Given the description of an element on the screen output the (x, y) to click on. 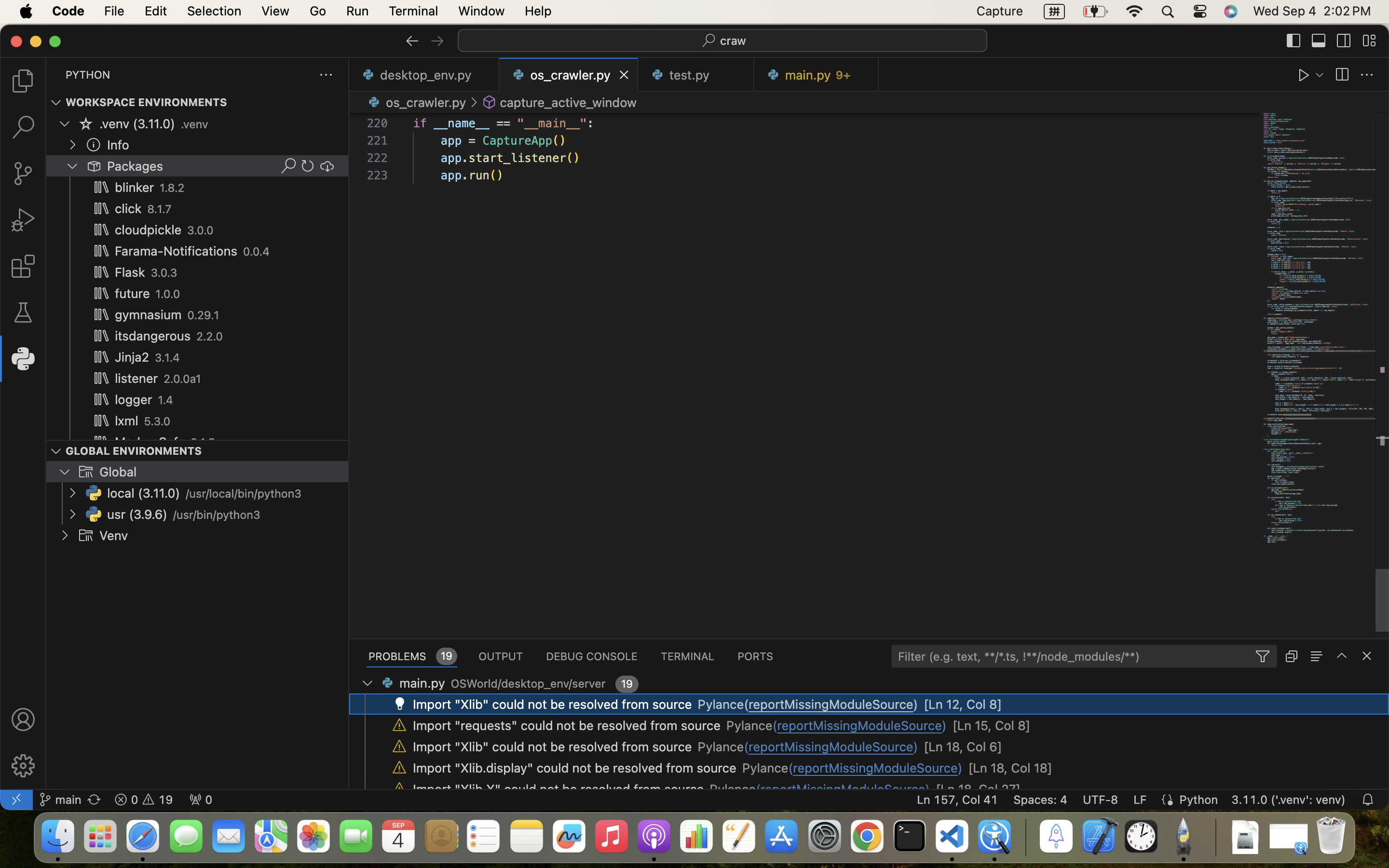
 Element type: AXStaticText (85, 123)
0 test.py   Element type: AXRadioButton (696, 74)
0.0.4 Element type: AXStaticText (256, 251)
PYTHON Element type: AXStaticText (87, 74)
os_crawler.py  Element type: AXGroup (415, 101)
